Given the description of an element on the screen output the (x, y) to click on. 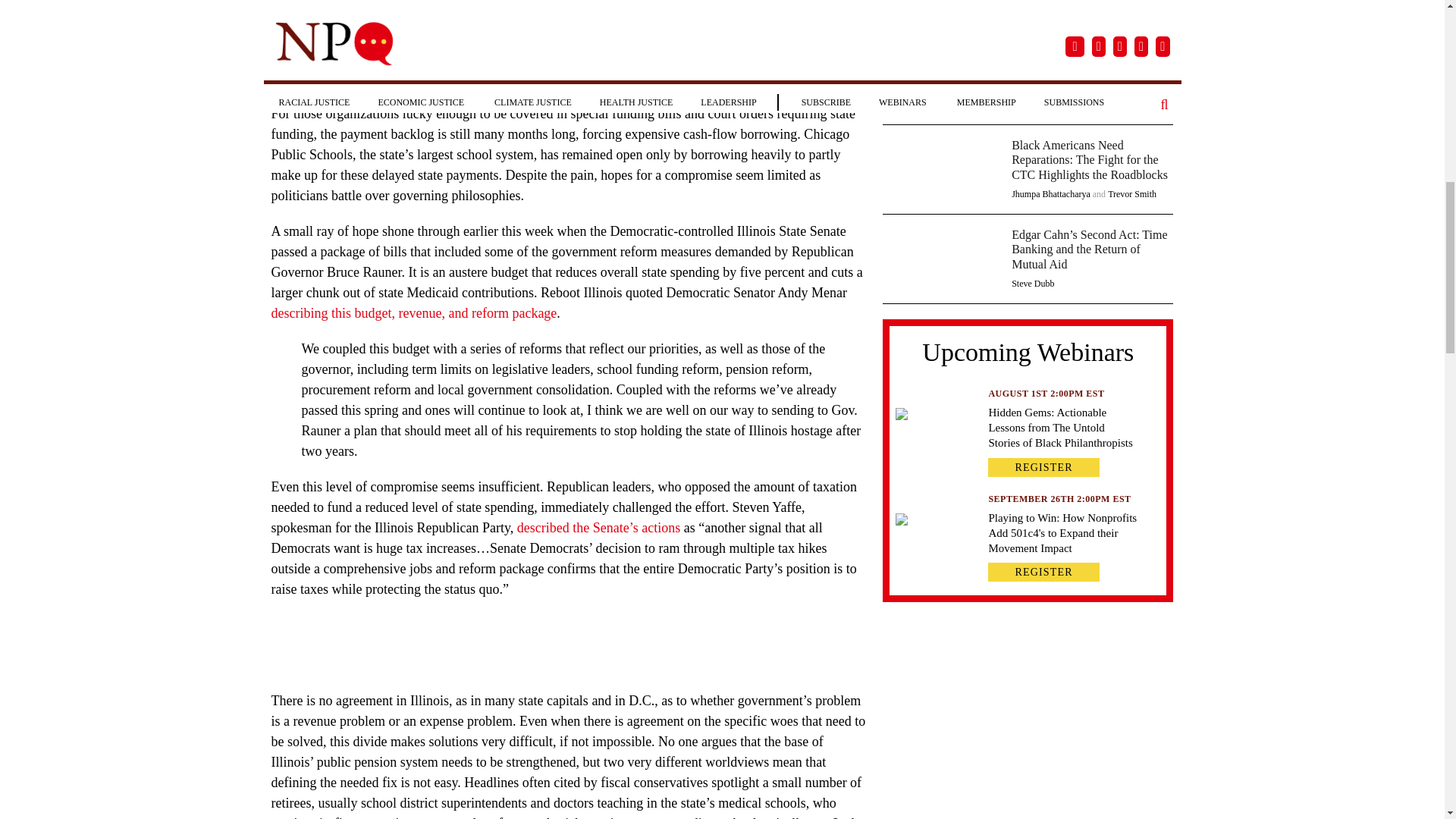
describing this budget, revenue, and reform package (413, 313)
the Illinois budget ticker (559, 37)
